Given the description of an element on the screen output the (x, y) to click on. 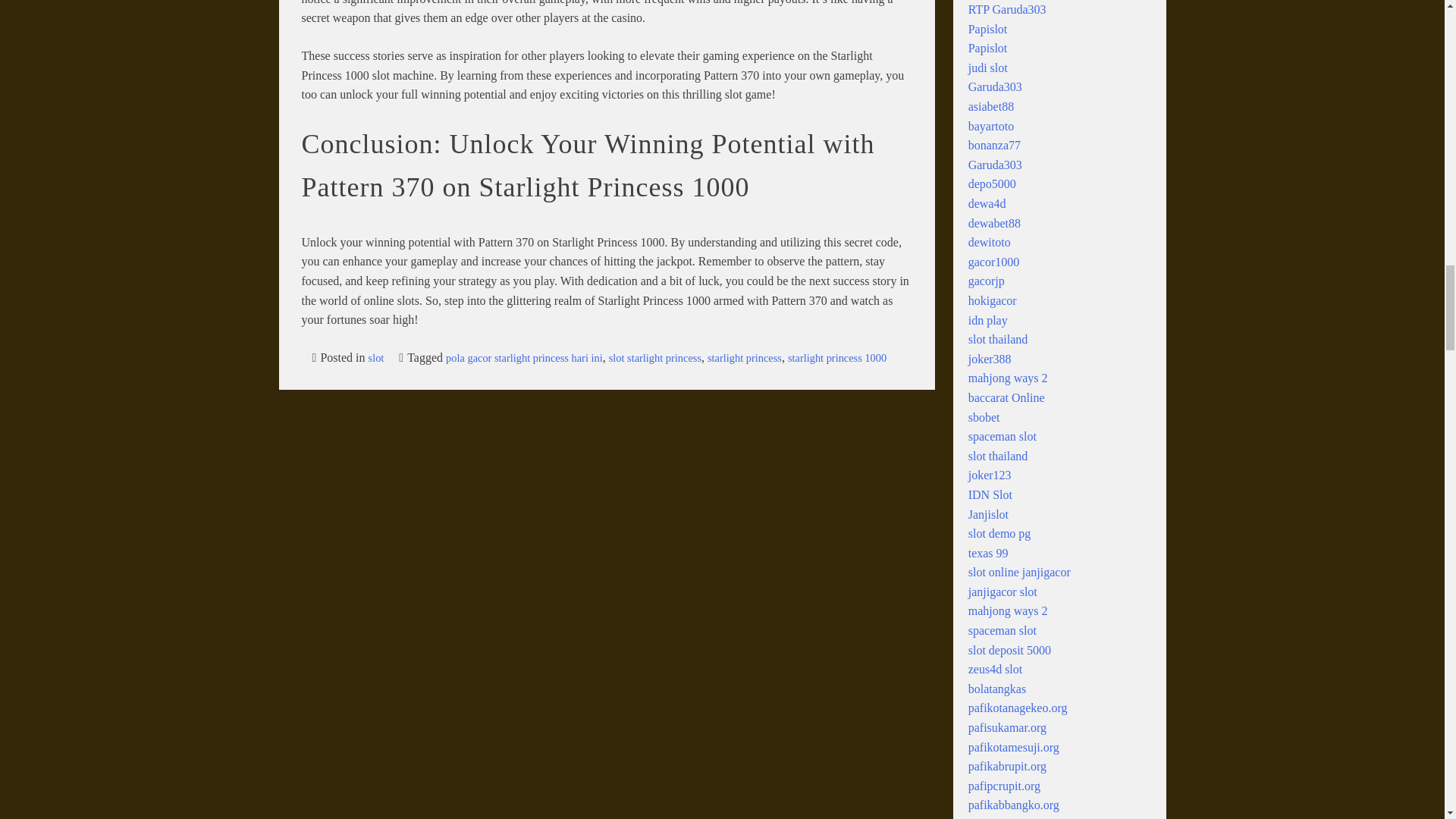
slot starlight princess (654, 357)
starlight princess 1000 (836, 357)
starlight princess (744, 357)
pola gacor starlight princess hari ini (523, 357)
slot (376, 357)
